Given the description of an element on the screen output the (x, y) to click on. 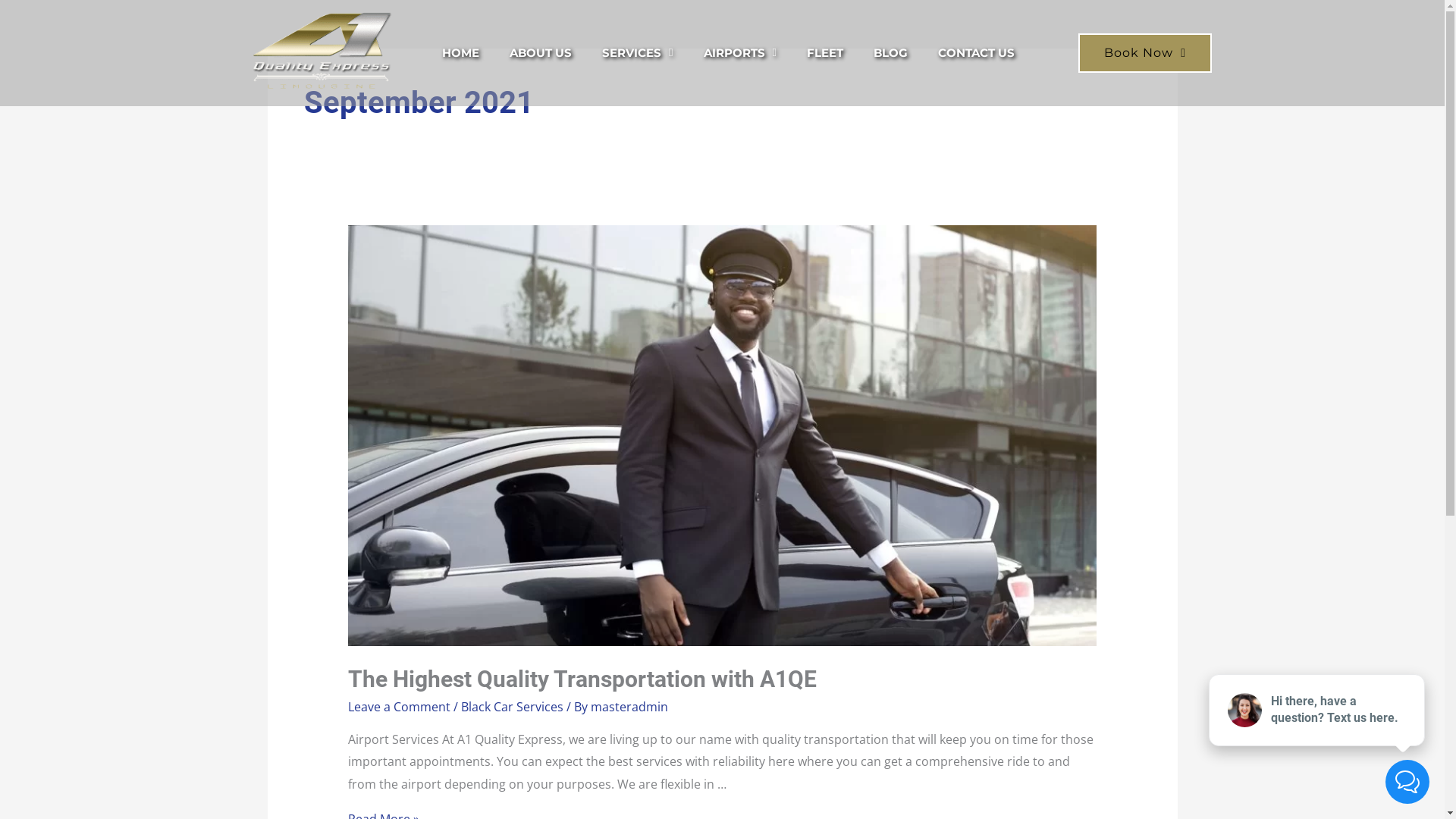
Black Car Services Element type: text (512, 706)
HOME Element type: text (460, 52)
BLOG Element type: text (890, 52)
The Highest Quality Transportation with A1QE Element type: text (582, 678)
SERVICES Element type: text (637, 52)
AIRPORTS Element type: text (739, 52)
FLEET Element type: text (824, 52)
Leave a Comment Element type: text (399, 706)
masteradmin Element type: text (629, 706)
Book Now Element type: text (1144, 52)
CONTACT US Element type: text (976, 52)
ABOUT US Element type: text (540, 52)
